Given the description of an element on the screen output the (x, y) to click on. 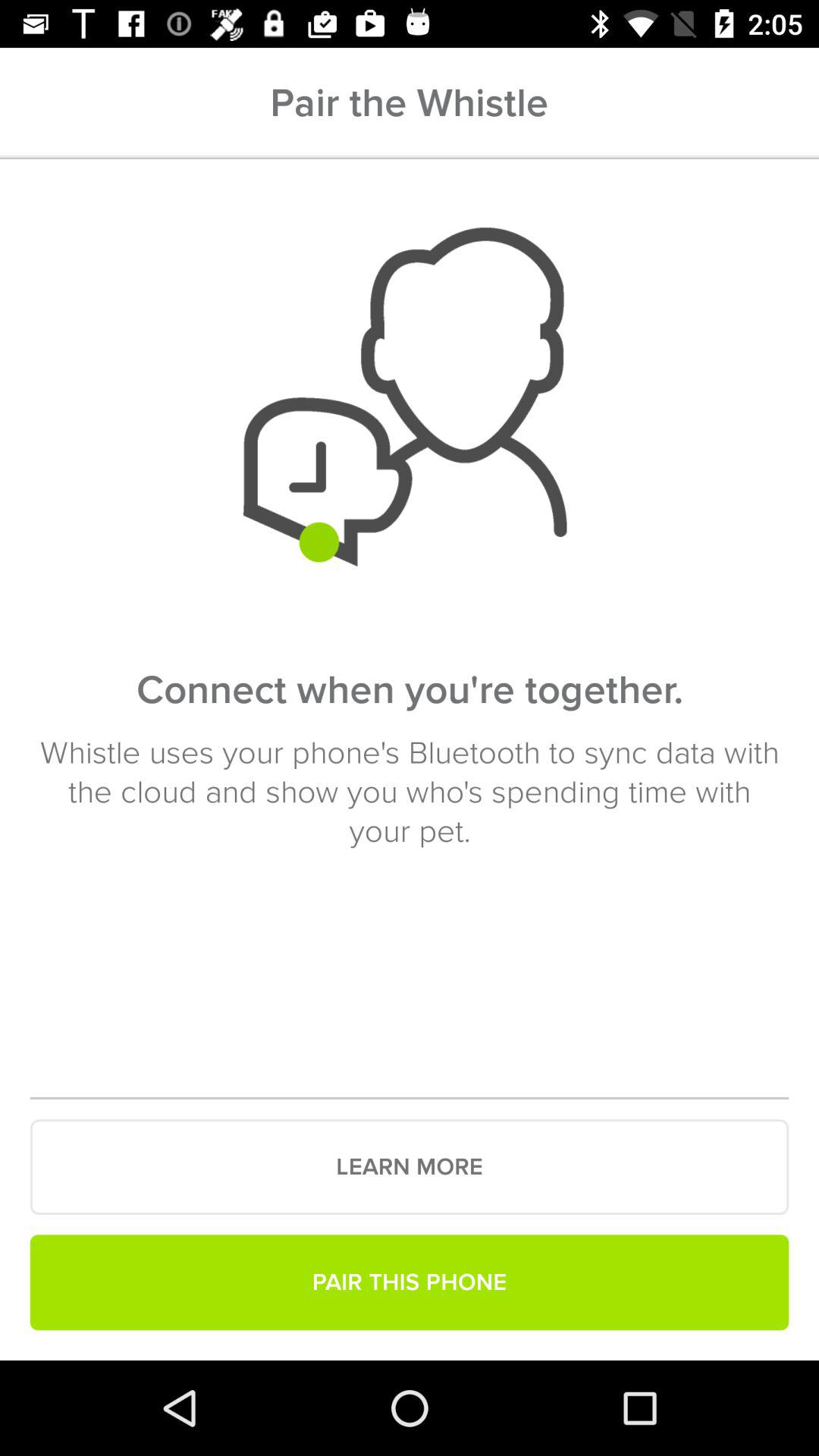
click icon above pair this phone item (409, 1166)
